Given the description of an element on the screen output the (x, y) to click on. 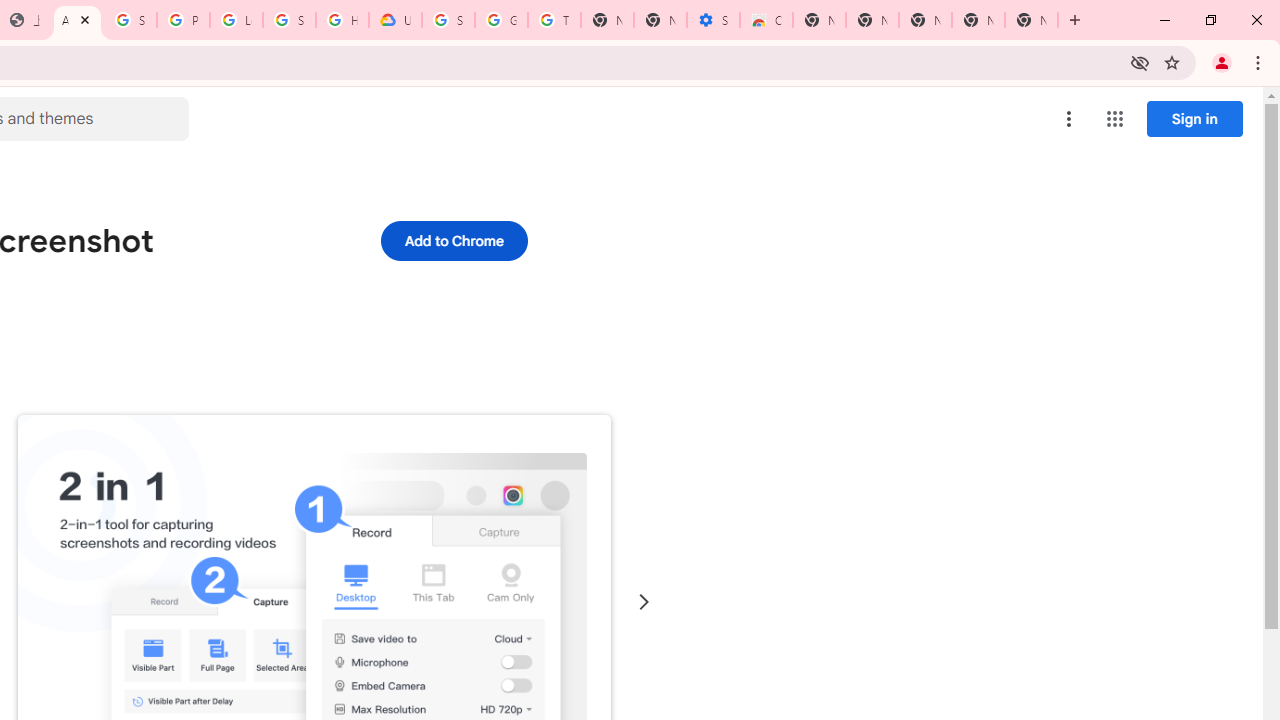
Sign in - Google Accounts (448, 20)
New Tab (819, 20)
Awesome Screen Recorder & Screenshot - Chrome Web Store (77, 20)
Chrome Web Store - Accessibility extensions (766, 20)
More options menu (1069, 118)
Turn cookies on or off - Computer - Google Account Help (554, 20)
Sign in - Google Accounts (289, 20)
New Tab (1031, 20)
